Given the description of an element on the screen output the (x, y) to click on. 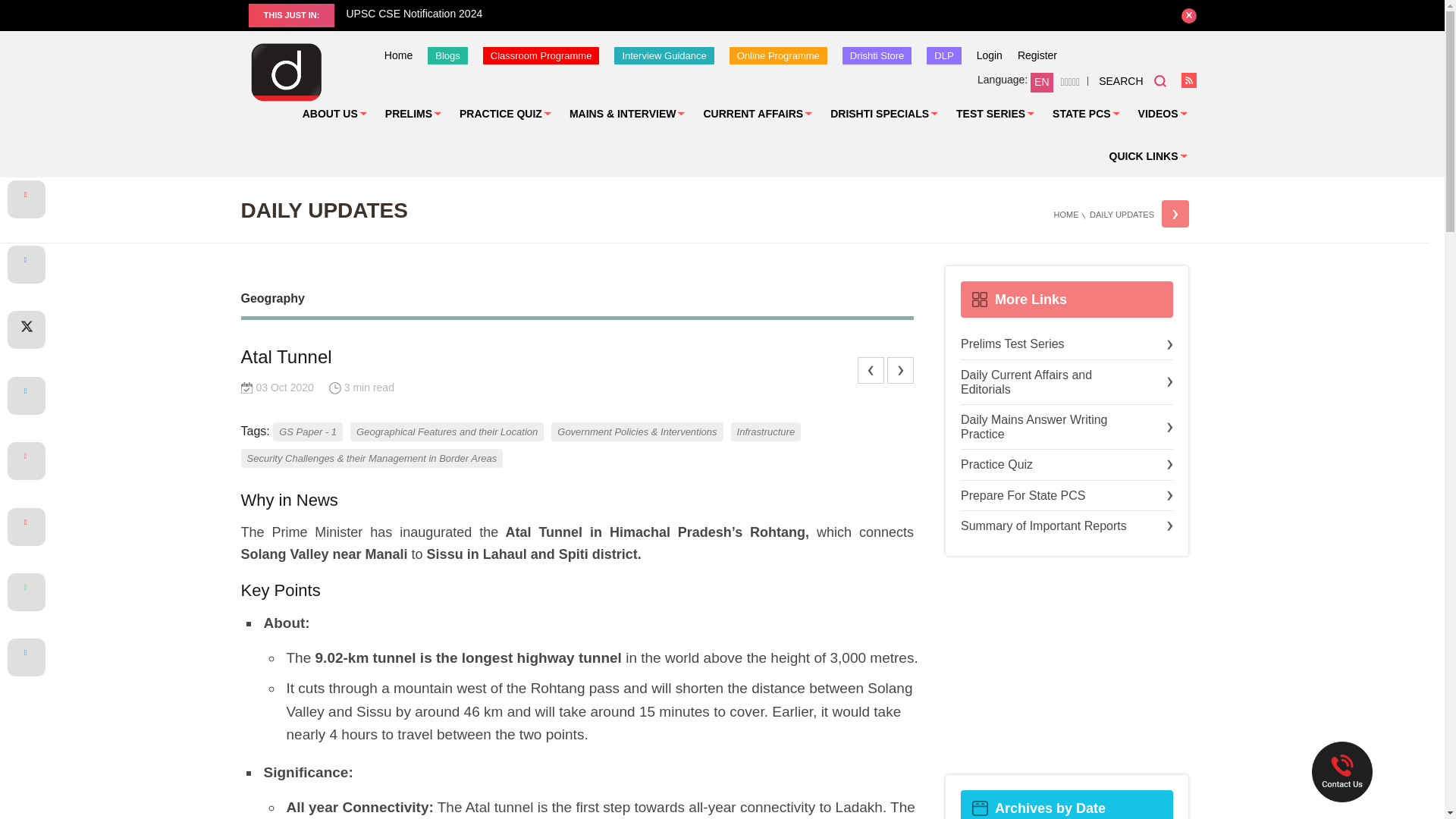
DLP (943, 55)
ABOUT US (334, 113)
Classroom Programme (541, 55)
Login (989, 54)
Online Programme (778, 55)
Interview Guidance (663, 55)
Register (1037, 54)
Blogs (447, 55)
close (1188, 14)
Advertisement (1066, 665)
Home (398, 54)
UPSC IFOS Notification - 2024 (173, 13)
UPSC CSE Notification 2024 (748, 13)
SEARCH (1132, 80)
EN (1041, 82)
